Given the description of an element on the screen output the (x, y) to click on. 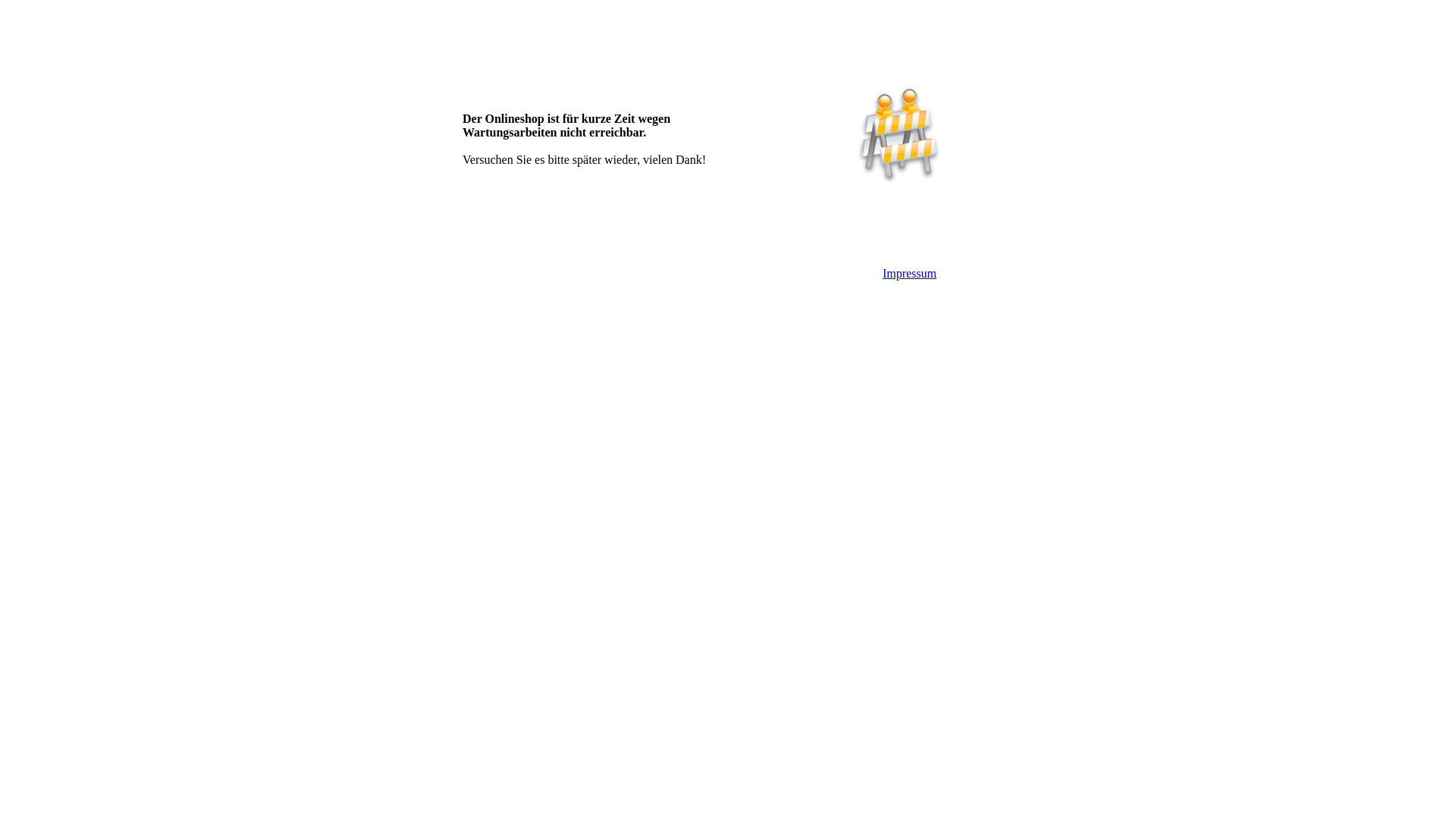
Impressum Element type: text (909, 272)
